Given the description of an element on the screen output the (x, y) to click on. 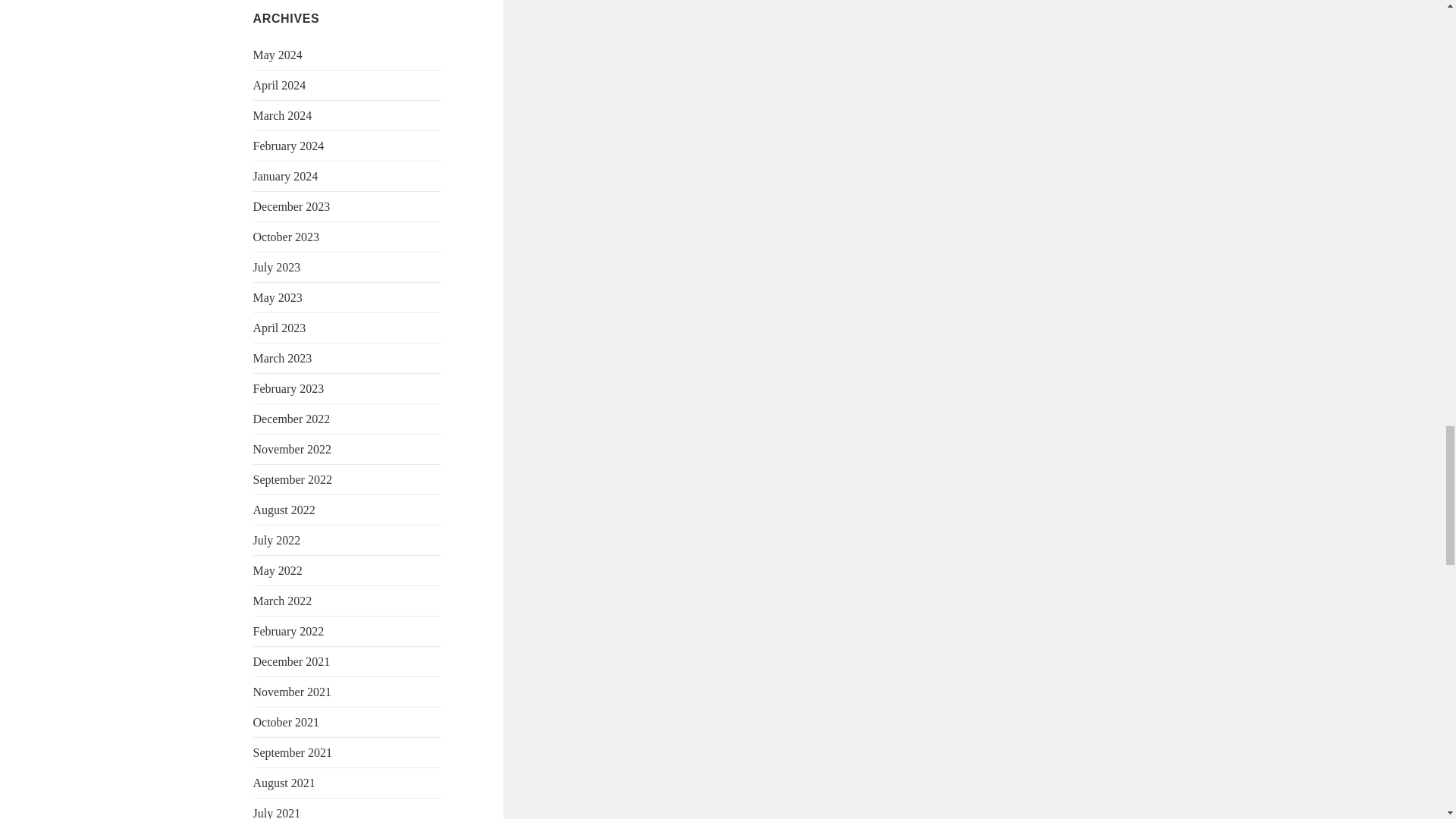
January 2024 (285, 175)
August 2022 (284, 509)
March 2022 (283, 600)
May 2023 (277, 297)
September 2022 (292, 479)
February 2023 (288, 388)
July 2022 (277, 540)
February 2022 (288, 631)
March 2024 (283, 115)
March 2023 (283, 358)
May 2024 (277, 54)
November 2022 (292, 449)
February 2024 (288, 145)
April 2024 (279, 84)
July 2023 (277, 267)
